Given the description of an element on the screen output the (x, y) to click on. 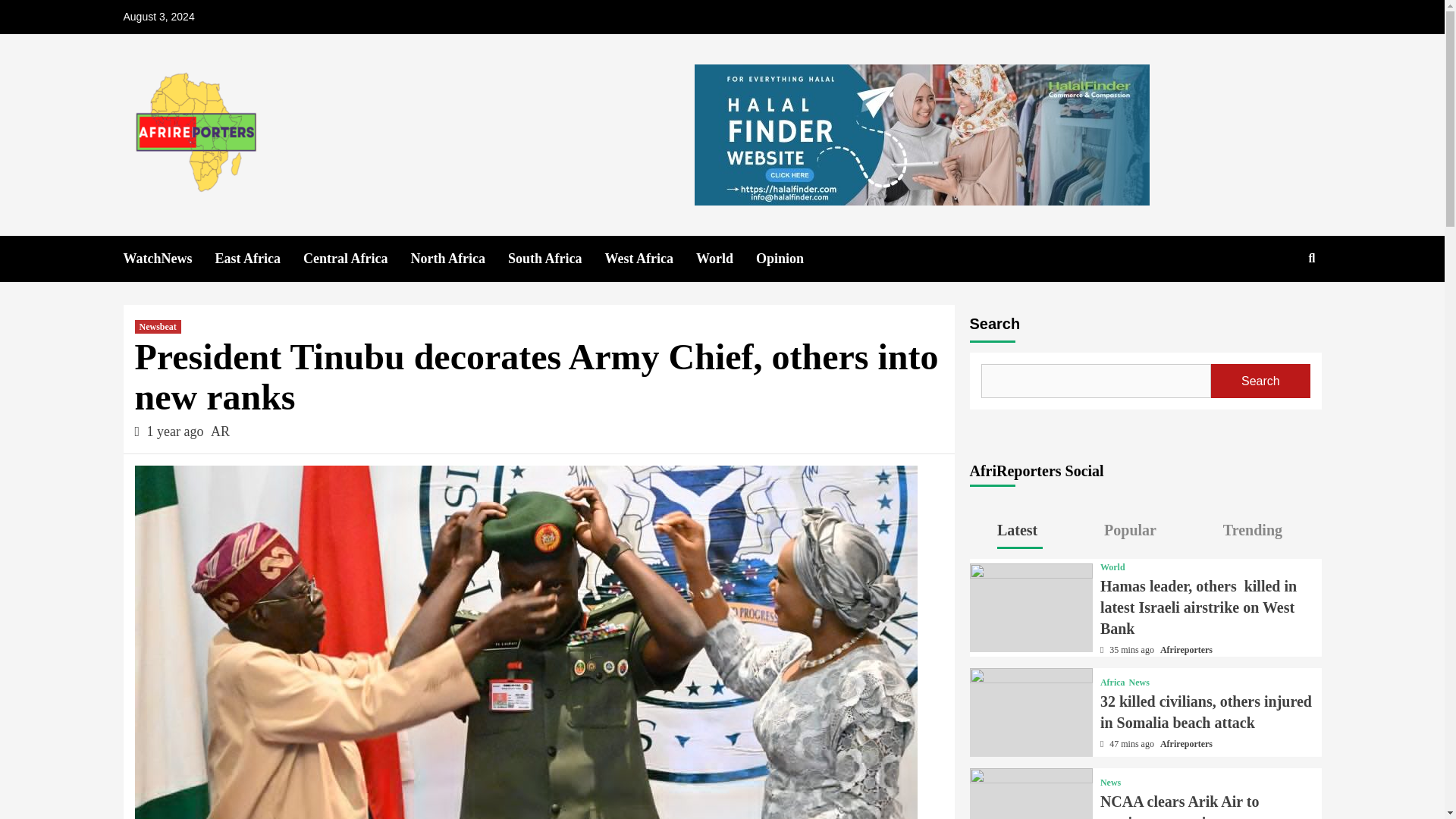
World (725, 258)
AR (220, 431)
Newsbeat (157, 326)
West Africa (649, 258)
1 year ago (176, 431)
Central Africa (356, 258)
North Africa (458, 258)
WatchNews (168, 258)
Opinion (791, 258)
South Africa (556, 258)
